Given the description of an element on the screen output the (x, y) to click on. 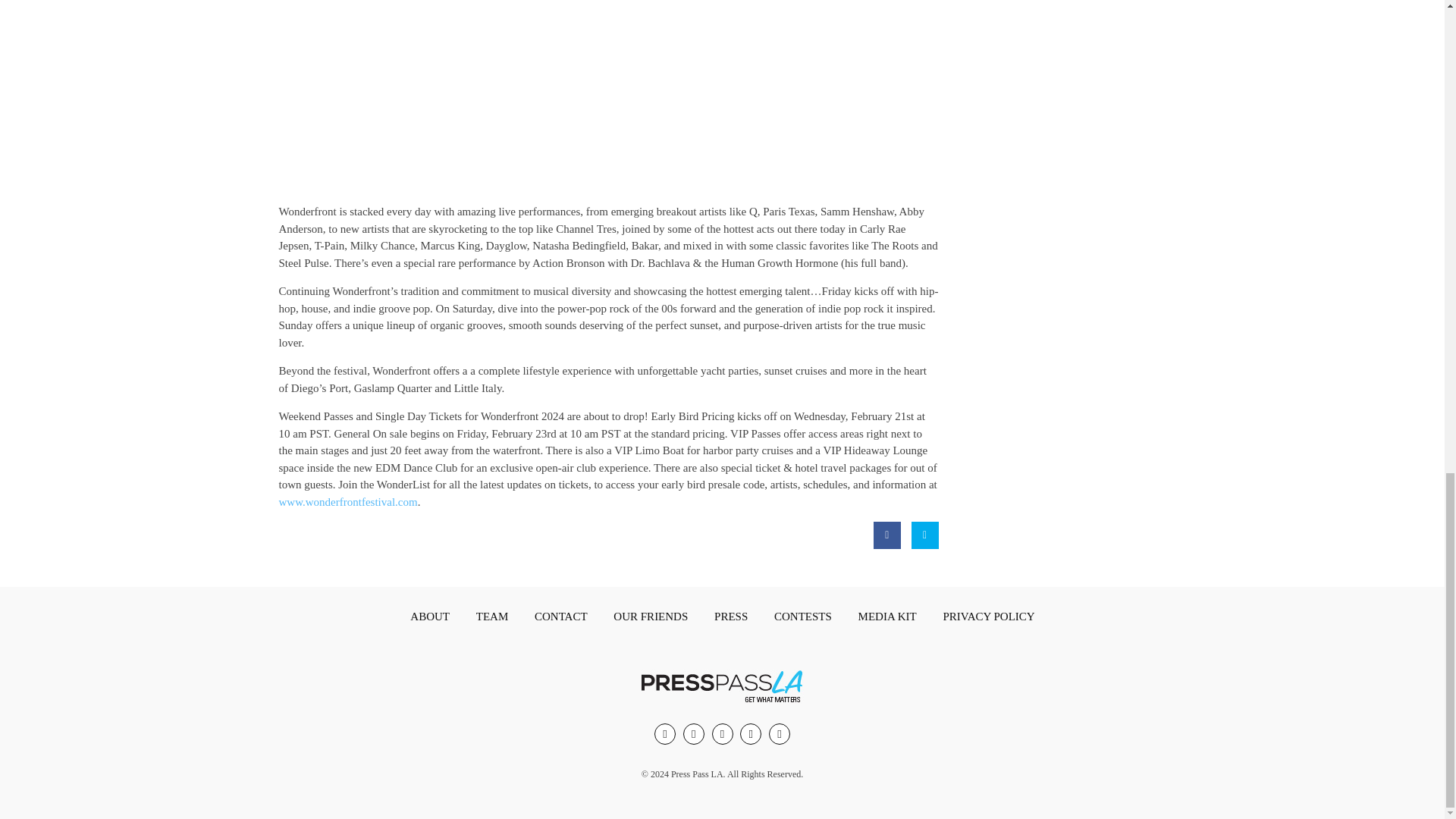
ABOUT (430, 617)
www.wonderfrontfestival.com (348, 501)
CONTACT (561, 617)
TEAM (492, 617)
